Given the description of an element on the screen output the (x, y) to click on. 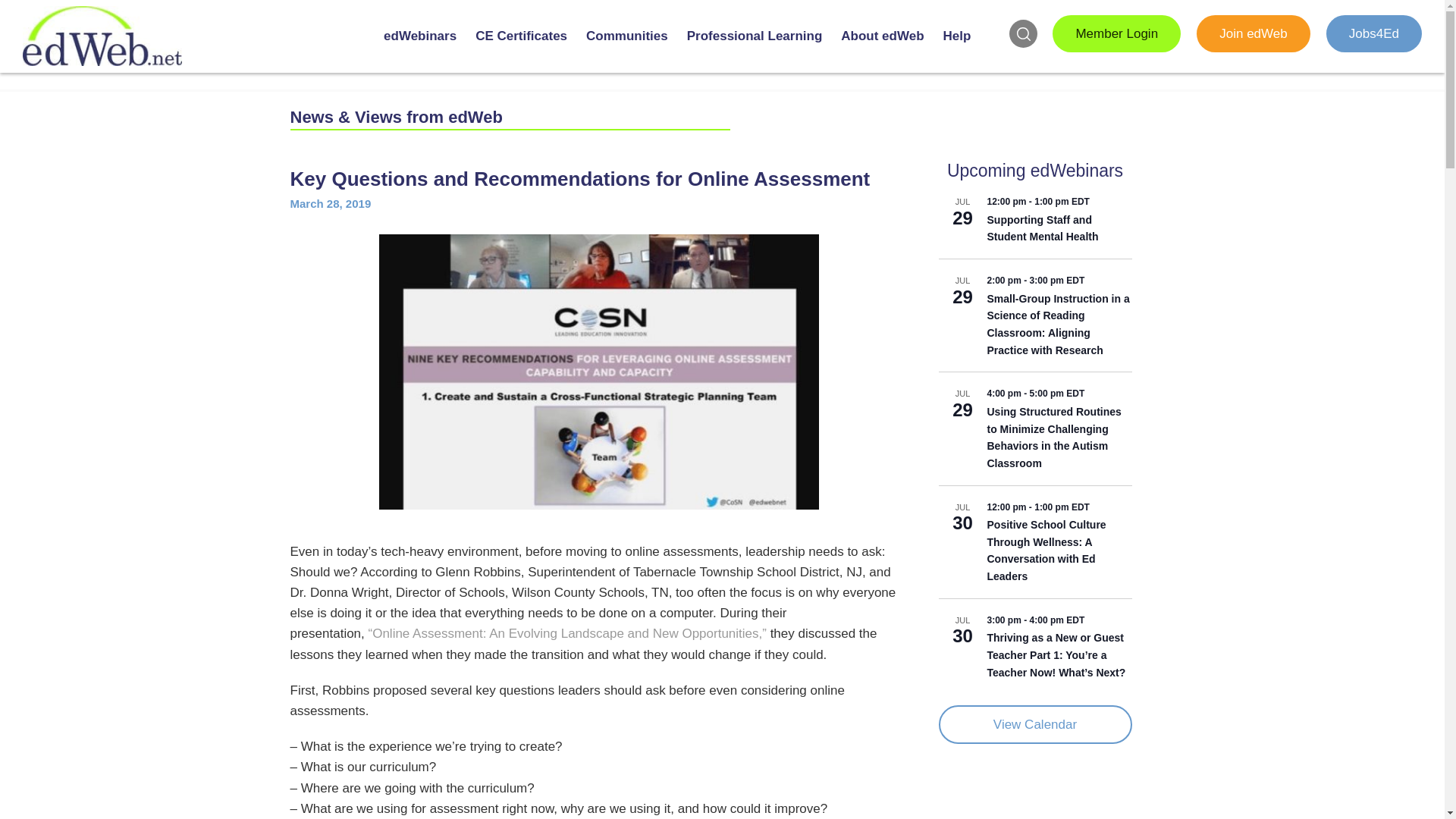
Help (957, 49)
CE Certificates (520, 49)
Professional Learning (754, 49)
About edWeb (882, 49)
View more events. (1035, 724)
edWebinars (420, 49)
Supporting Staff and Student Mental Health (1043, 228)
Communities (626, 49)
